Given the description of an element on the screen output the (x, y) to click on. 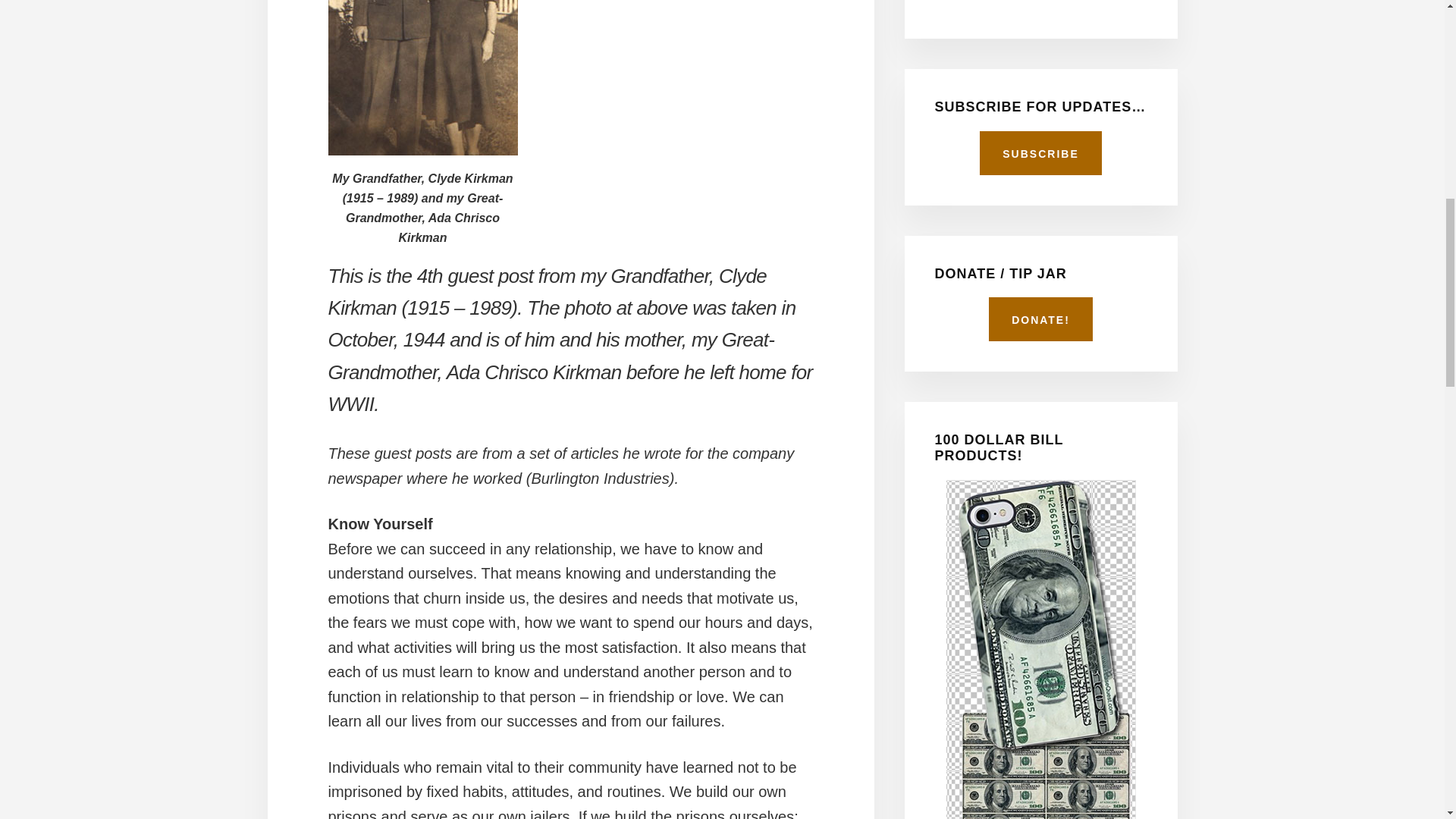
Subscribe for Updates (1039, 153)
DONATE! (1040, 319)
Donate (1040, 319)
SUBSCRIBE (1039, 153)
